Given the description of an element on the screen output the (x, y) to click on. 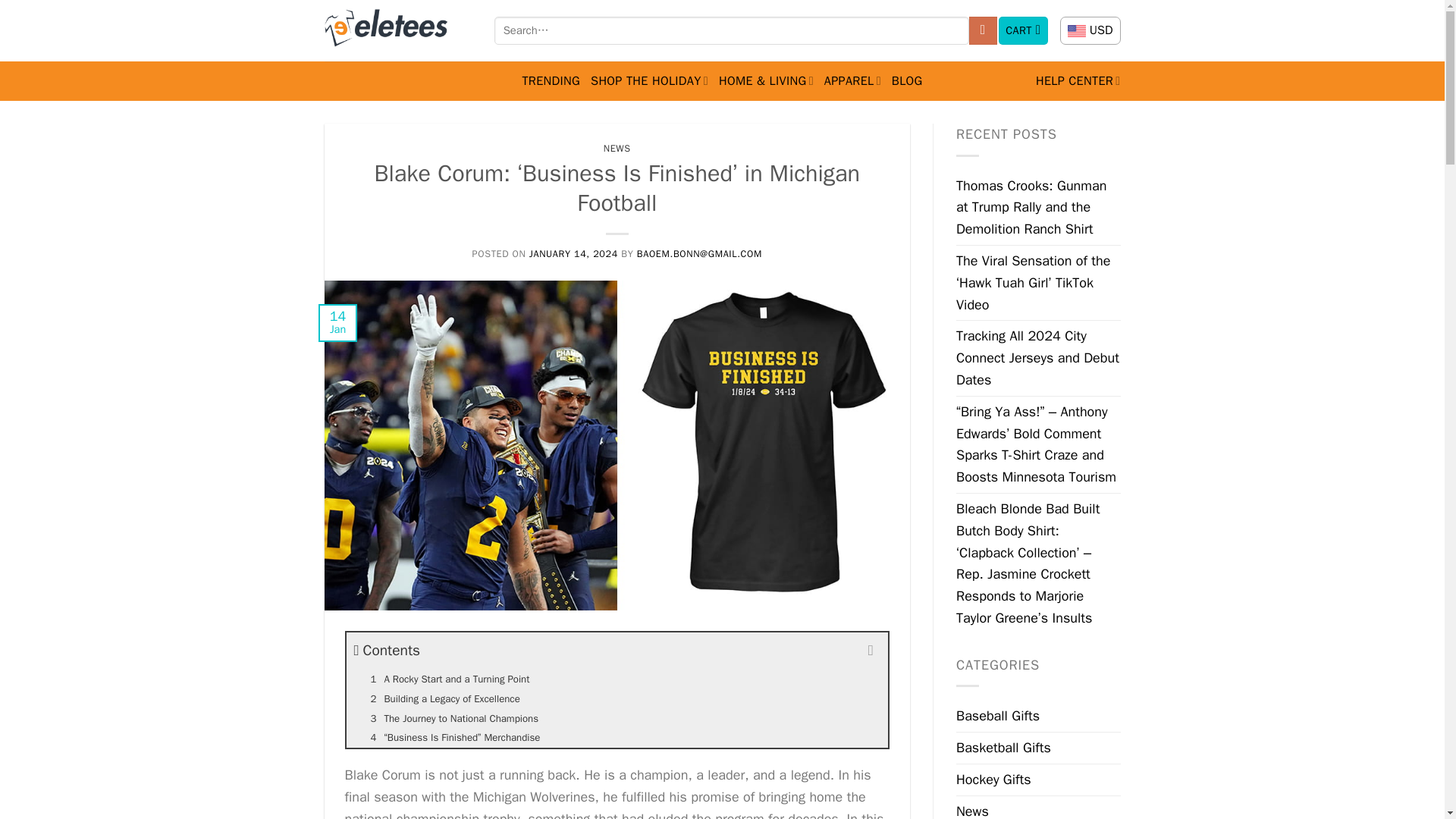
APPAREL (852, 80)
Eletees - Clothes that make a statement (397, 30)
SHOP THE HOLIDAY (649, 80)
CART (1023, 30)
Cart (1023, 30)
TRENDING (550, 80)
HELP CENTER (1078, 80)
Search (983, 30)
